Given the description of an element on the screen output the (x, y) to click on. 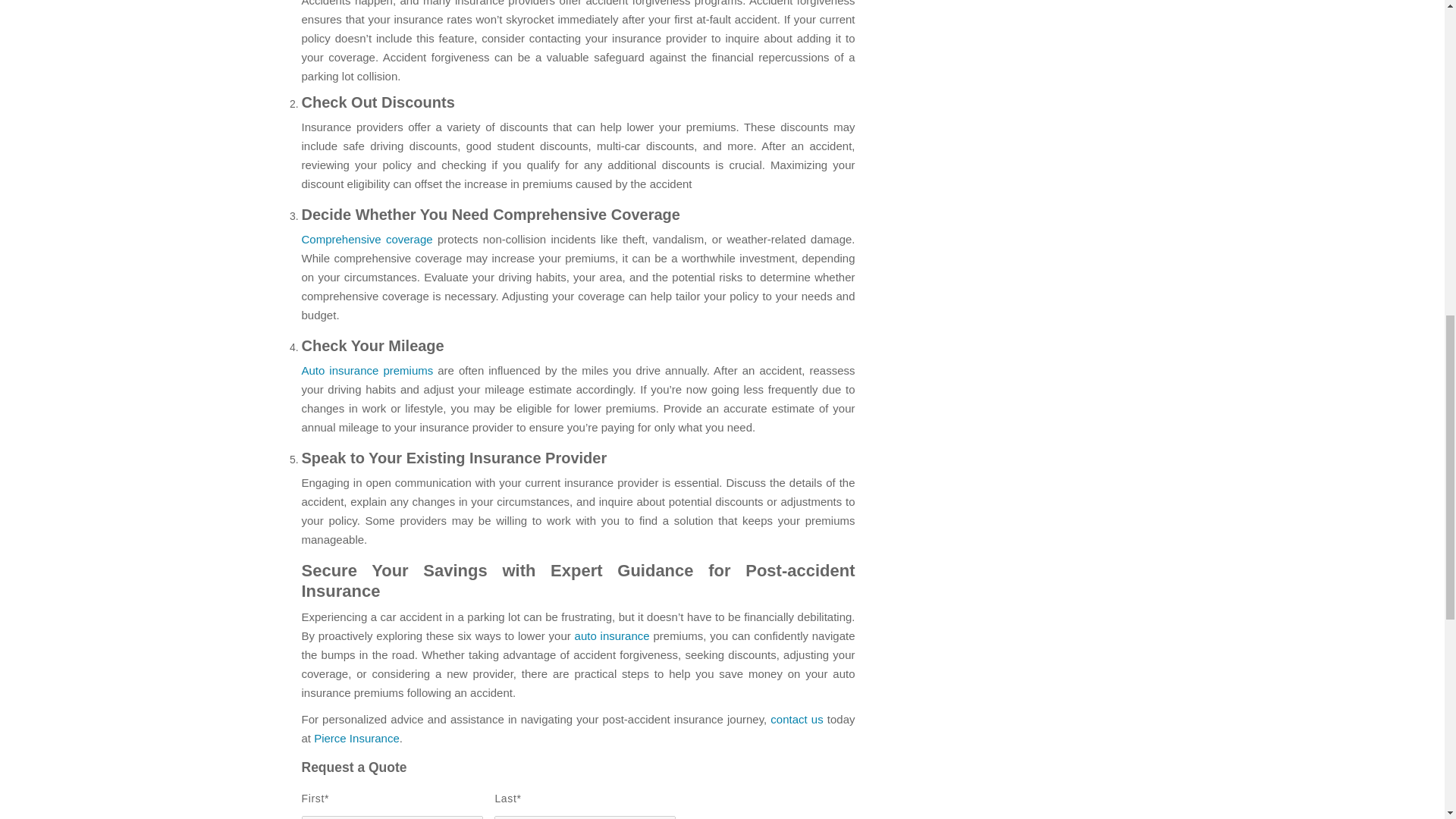
contact us (796, 718)
Pierce Insurance (356, 738)
auto insurance (612, 635)
Comprehensive coverage (366, 238)
Auto insurance premiums (367, 369)
